Given the description of an element on the screen output the (x, y) to click on. 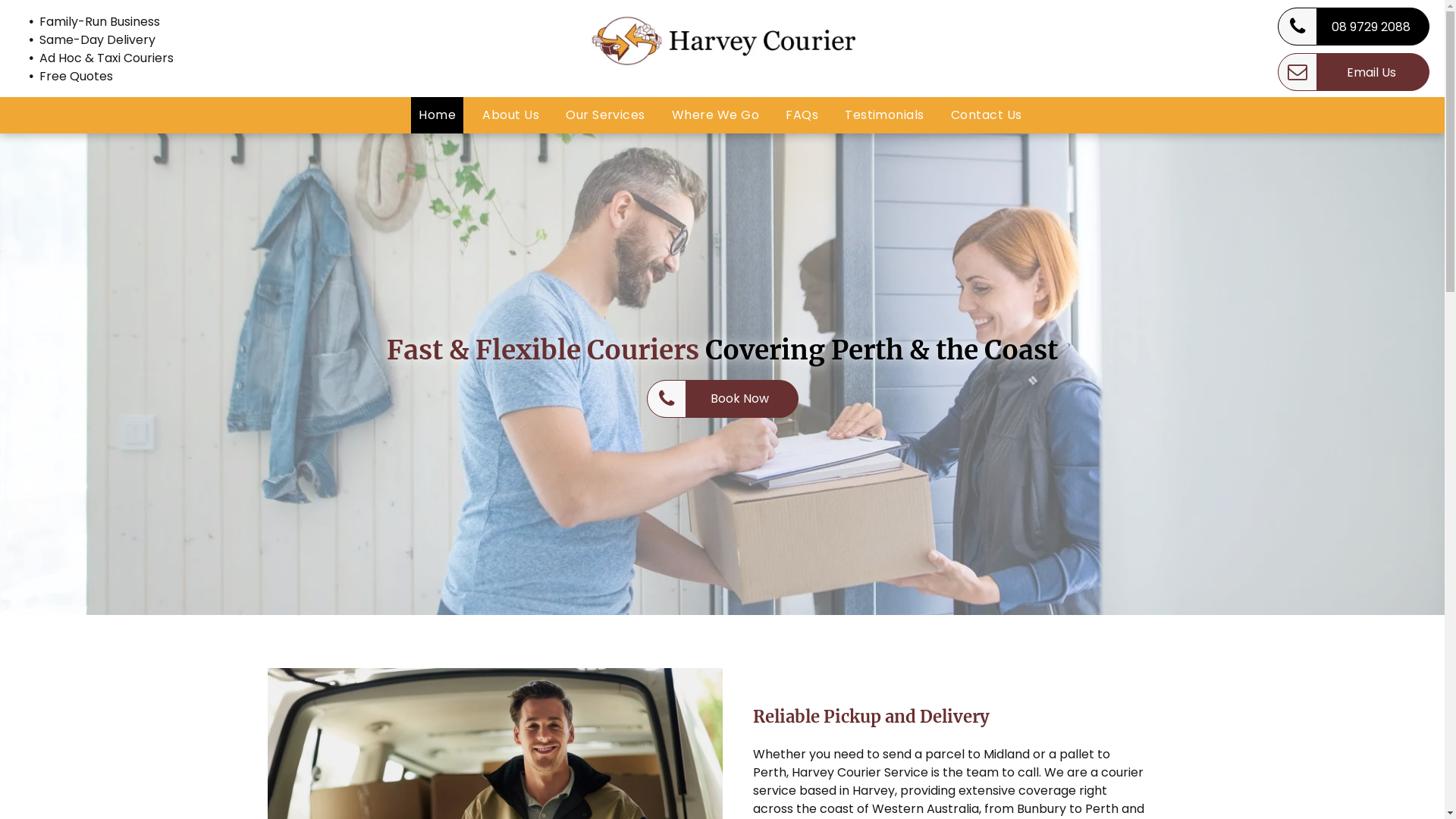
Book Now Element type: text (721, 398)
Home Element type: text (437, 115)
Email Us Element type: text (1353, 72)
Our Services Element type: text (605, 115)
FAQs Element type: text (801, 115)
Testimonials Element type: text (884, 115)
Contact Us Element type: text (986, 115)
08 9729 2088 Element type: text (1353, 26)
About Us Element type: text (510, 115)
Where We Go Element type: text (715, 115)
